Given the description of an element on the screen output the (x, y) to click on. 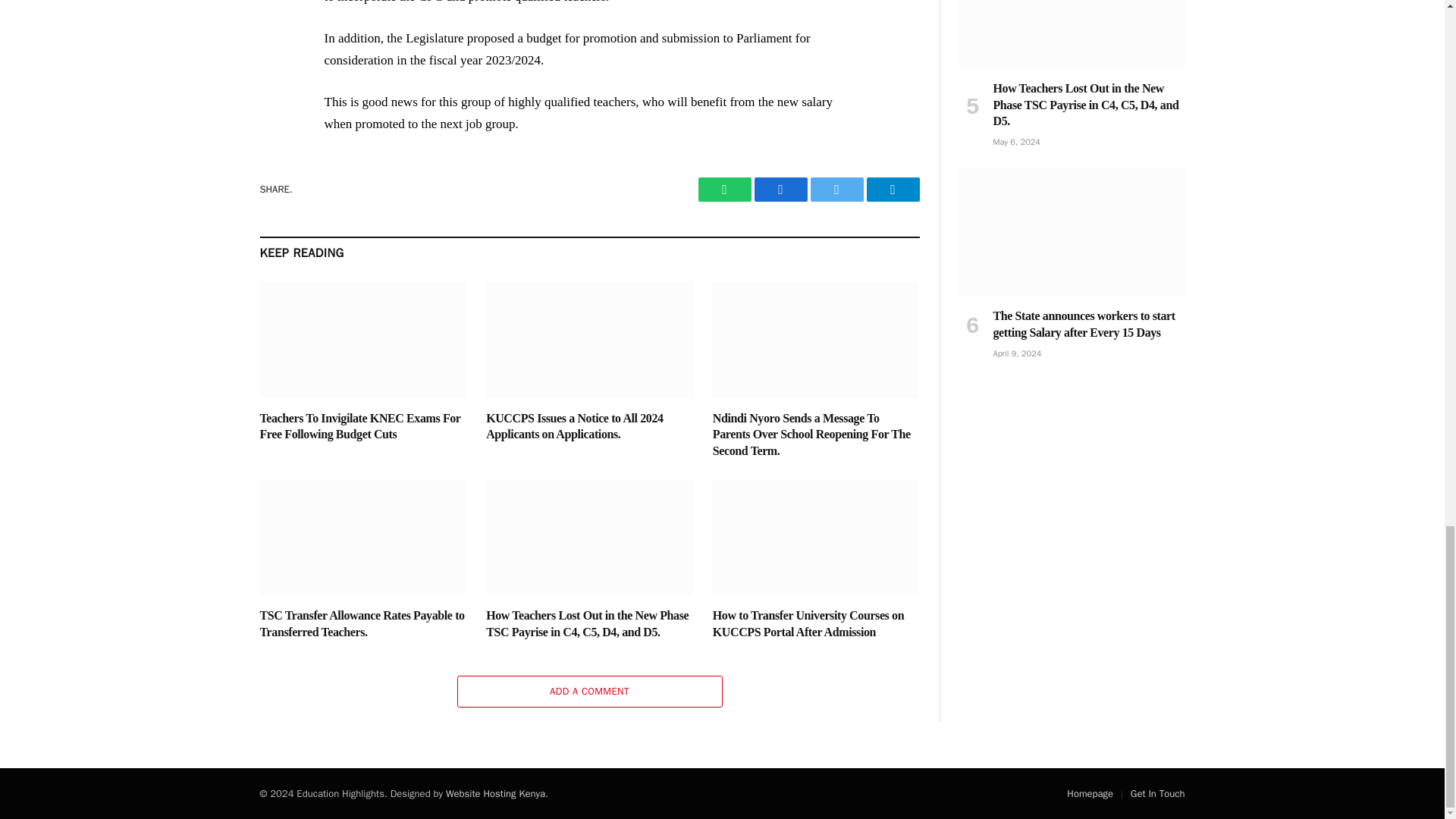
Facebook (780, 189)
Twitter (836, 189)
WhatsApp (724, 189)
